Given the description of an element on the screen output the (x, y) to click on. 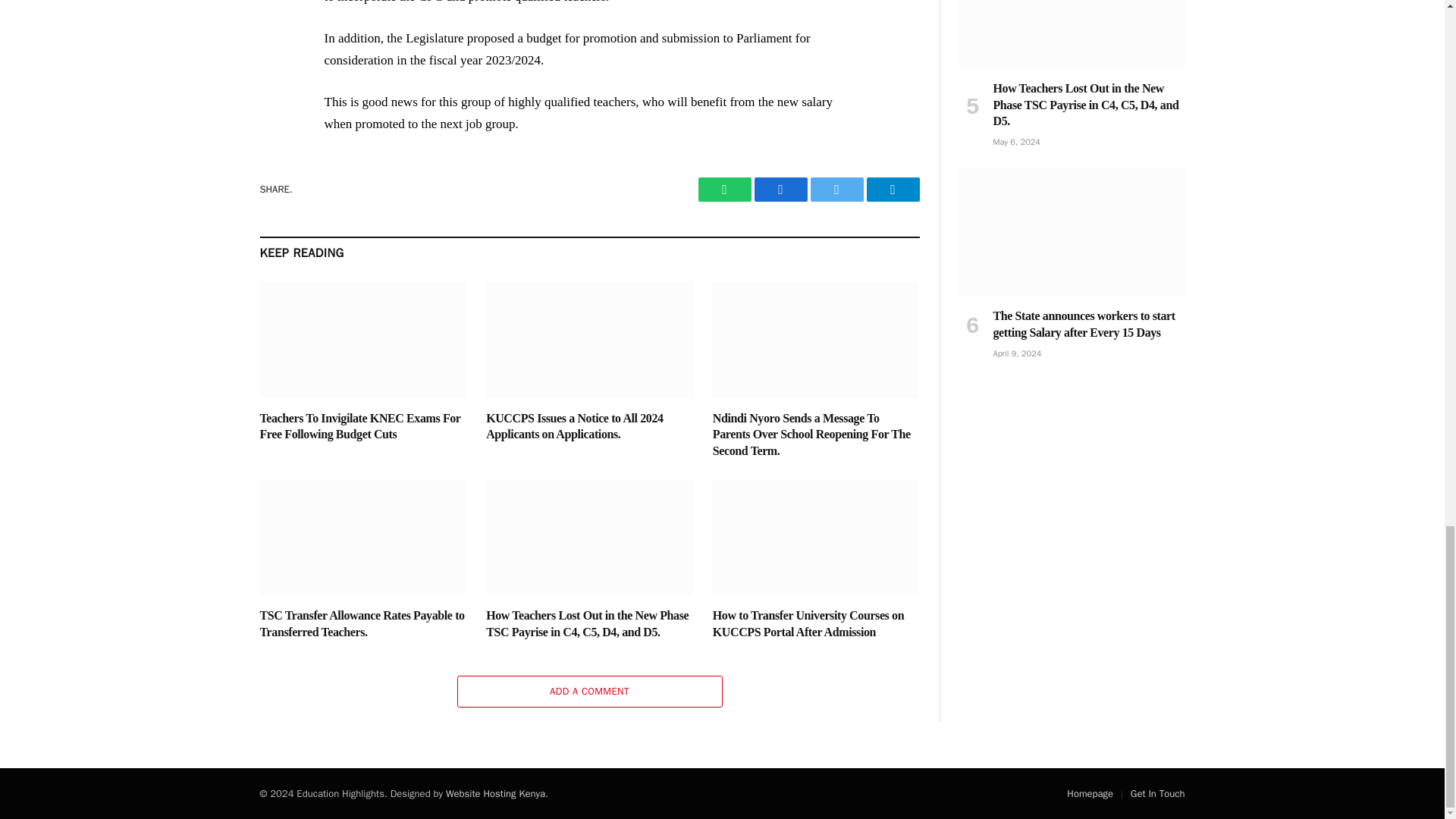
Facebook (780, 189)
Twitter (836, 189)
WhatsApp (724, 189)
